Given the description of an element on the screen output the (x, y) to click on. 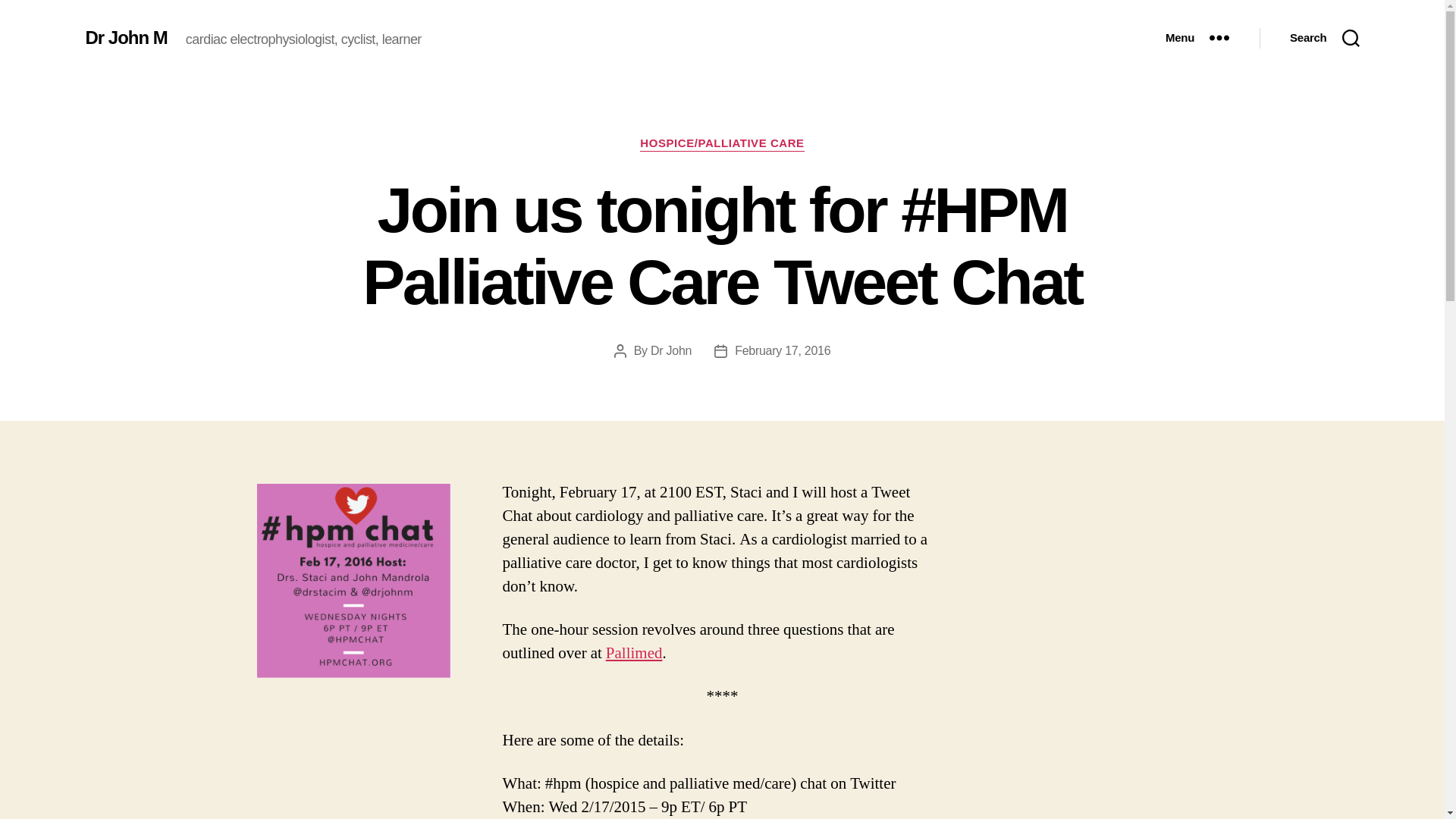
Menu (1197, 37)
Search (1324, 37)
Dr John M (125, 37)
